Given the description of an element on the screen output the (x, y) to click on. 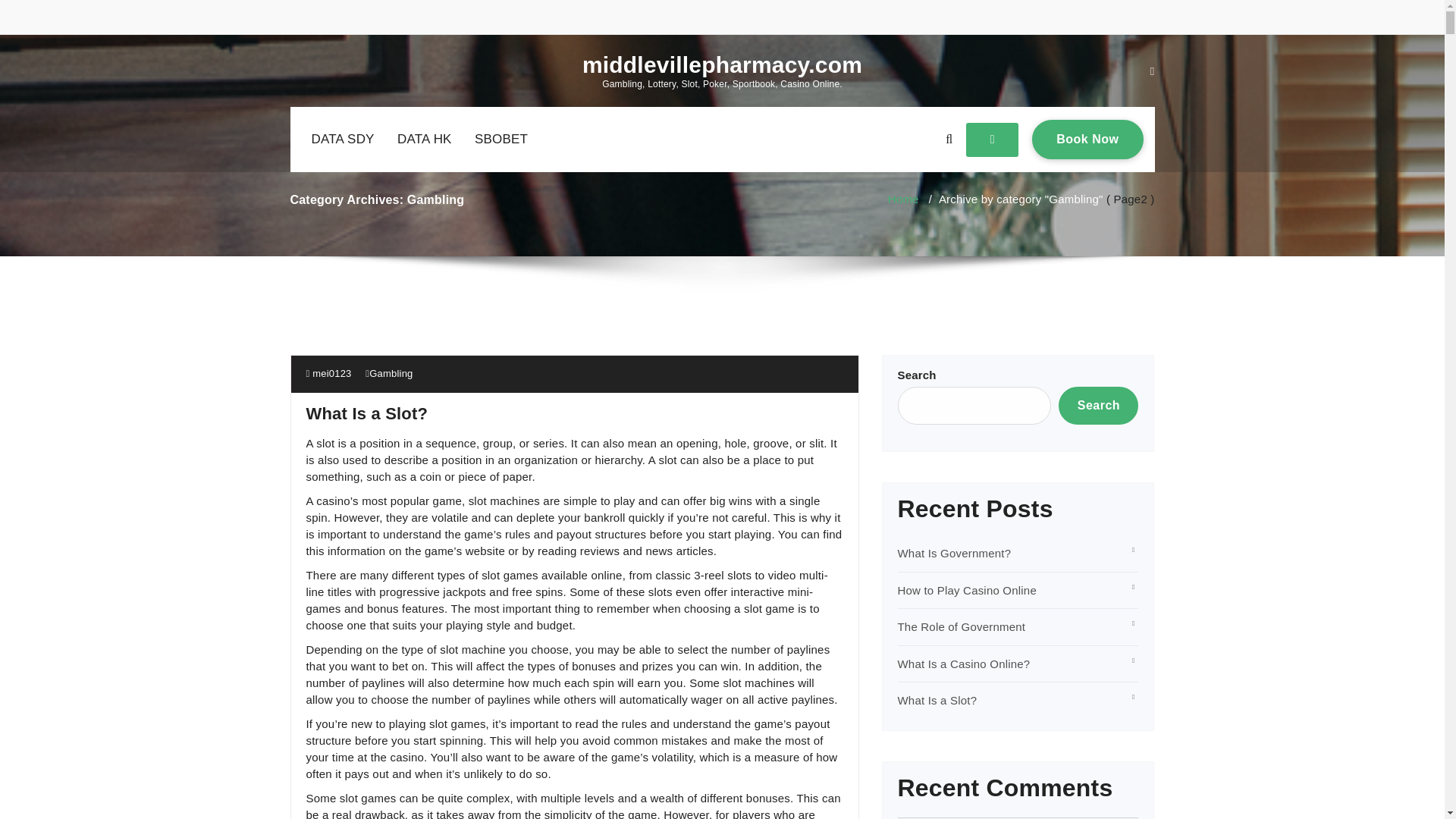
DATA SDY (341, 139)
DATA HK (1087, 138)
SBOBET (425, 139)
mei0123 (501, 139)
Gambling (328, 373)
Home (390, 373)
What Is a Slot? (903, 198)
middlevillepharmacy.com (366, 413)
